Given the description of an element on the screen output the (x, y) to click on. 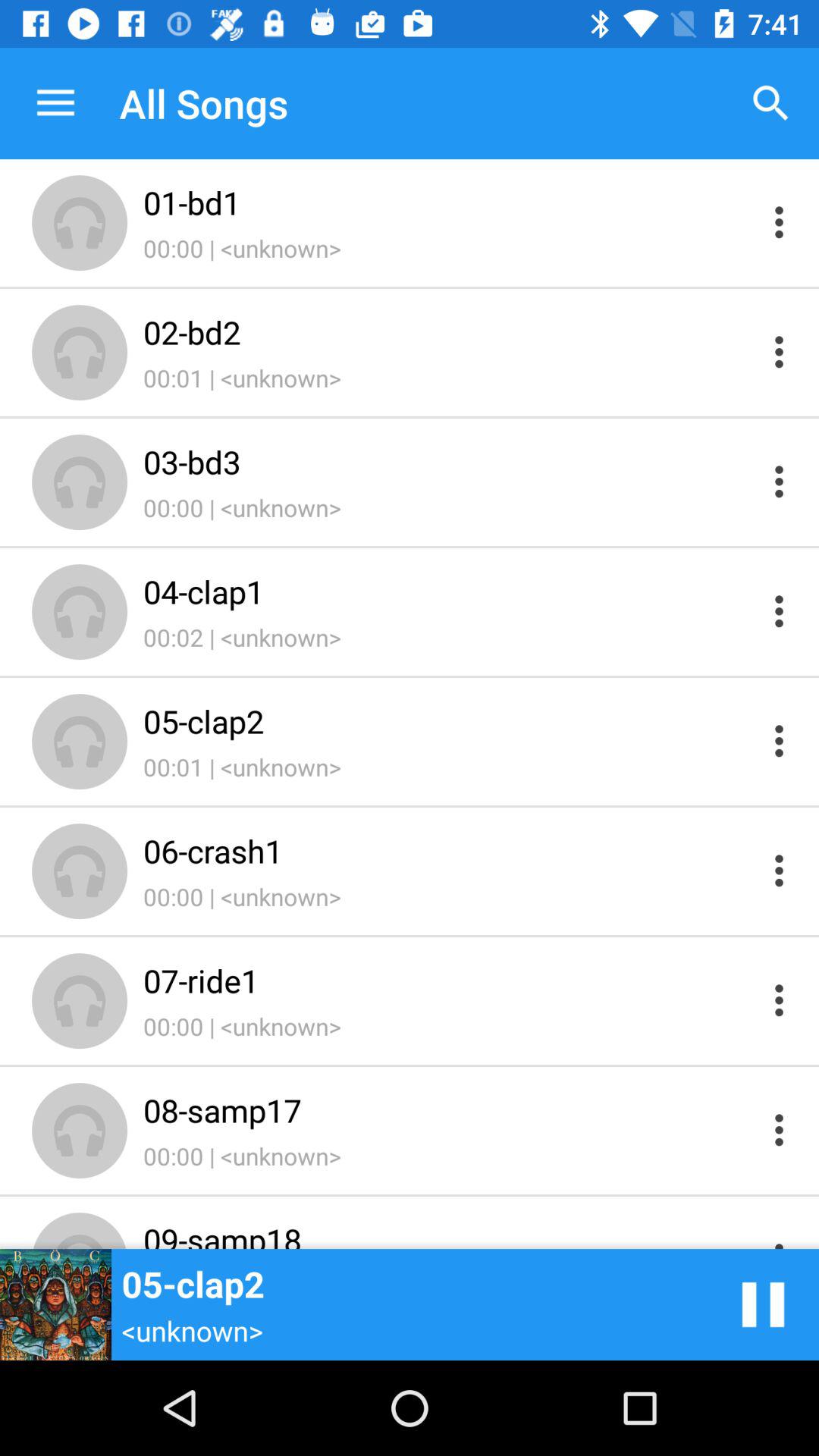
turn on icon above the 00:00 | <unknown> icon (449, 461)
